Given the description of an element on the screen output the (x, y) to click on. 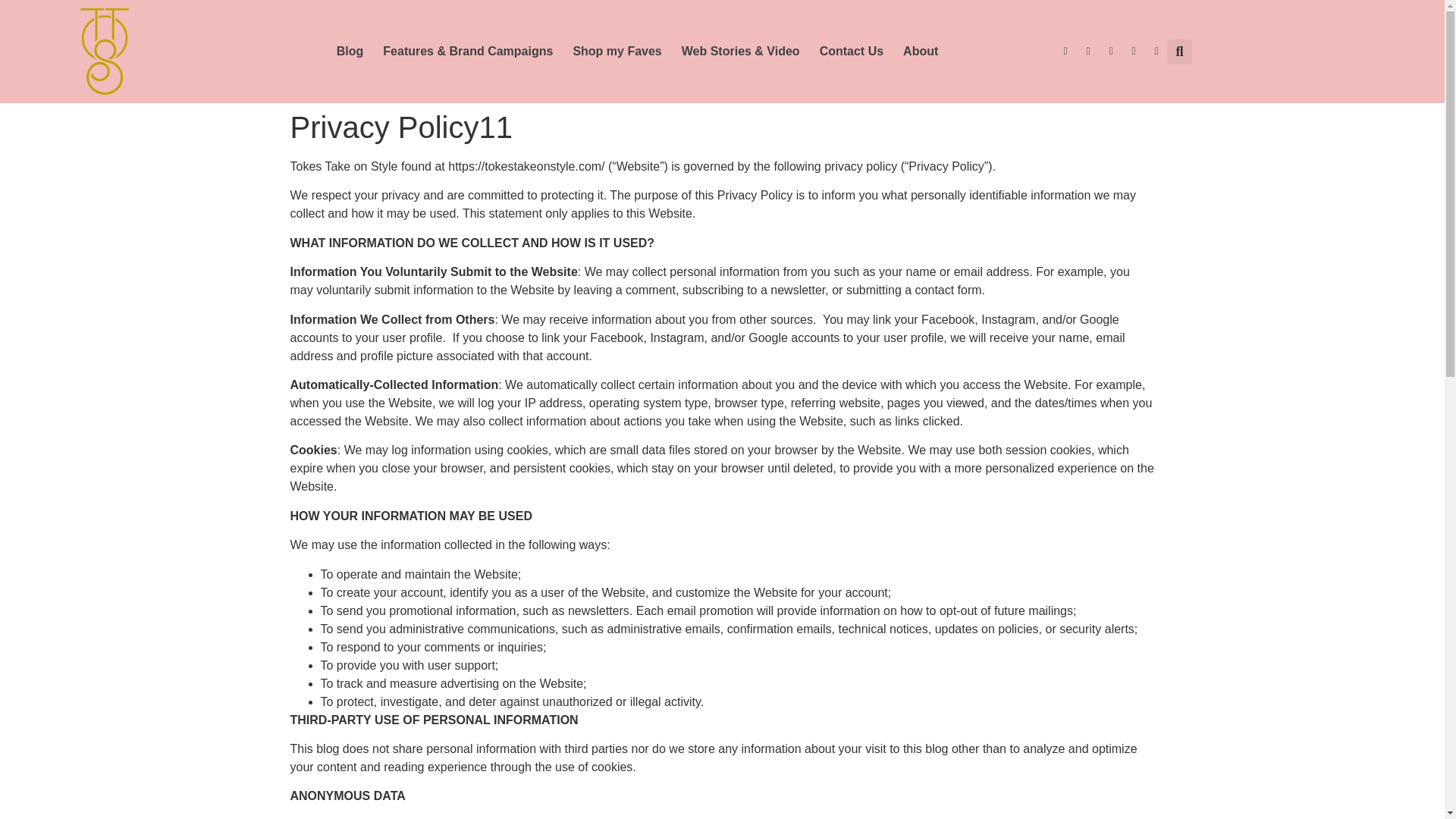
Shop my Faves (616, 51)
Contact Us (851, 51)
Blog (350, 51)
About (920, 51)
